Given the description of an element on the screen output the (x, y) to click on. 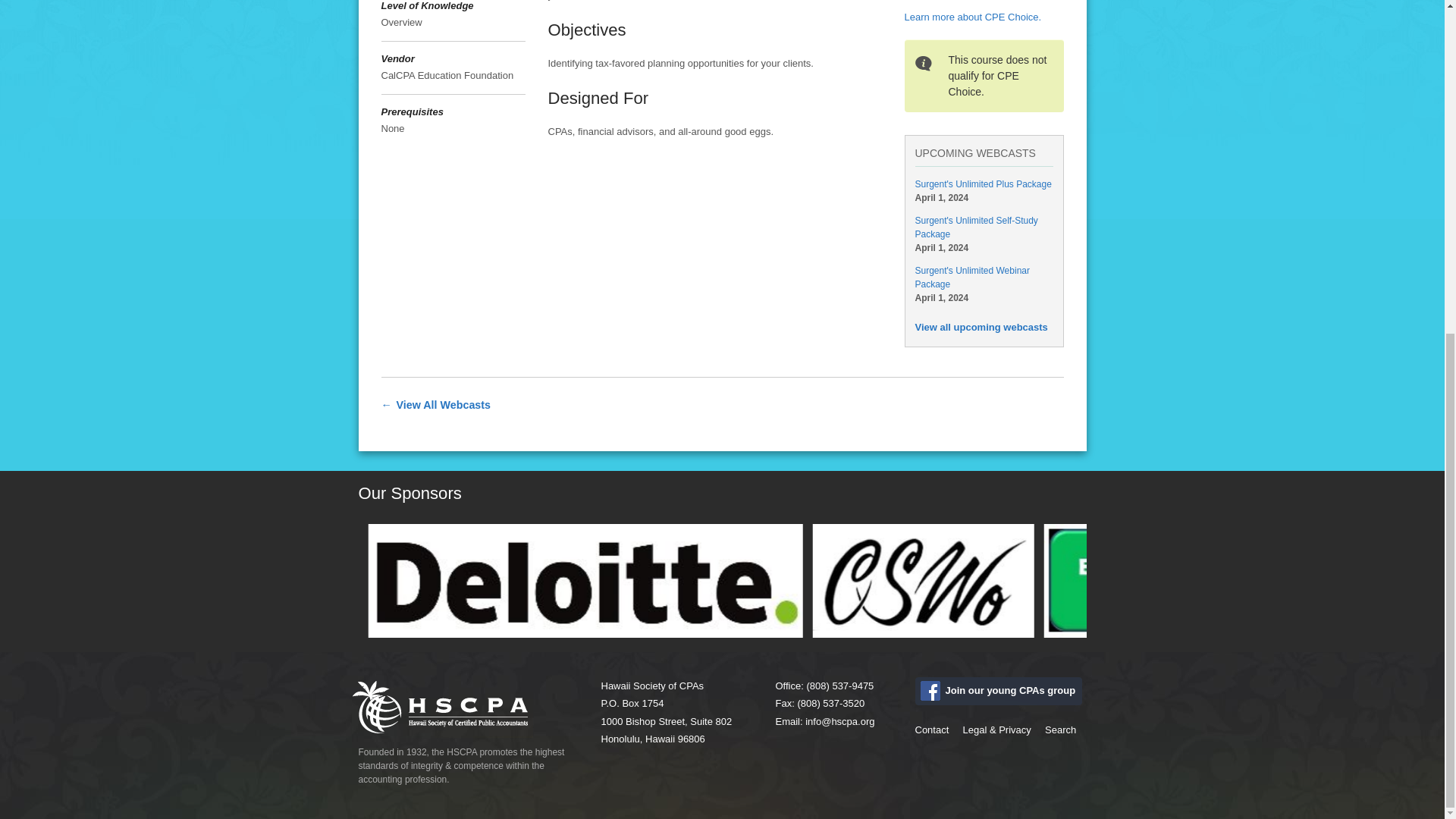
Learn more about CPE Choice. (972, 16)
